Given the description of an element on the screen output the (x, y) to click on. 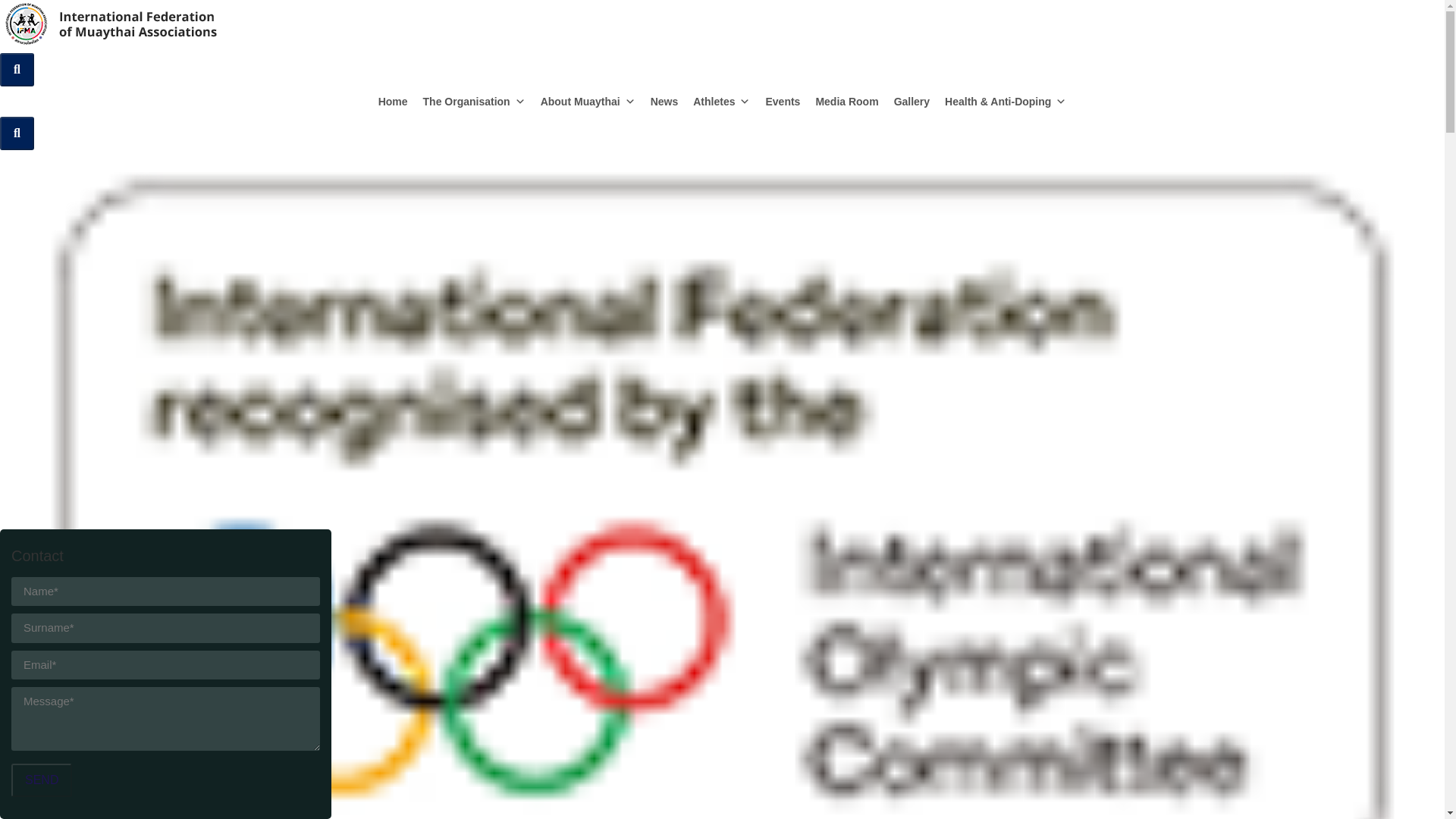
The Organisation (473, 101)
About Muaythai (587, 101)
News (664, 101)
Home (392, 101)
Athletes (721, 101)
SEND (41, 779)
